Given the description of an element on the screen output the (x, y) to click on. 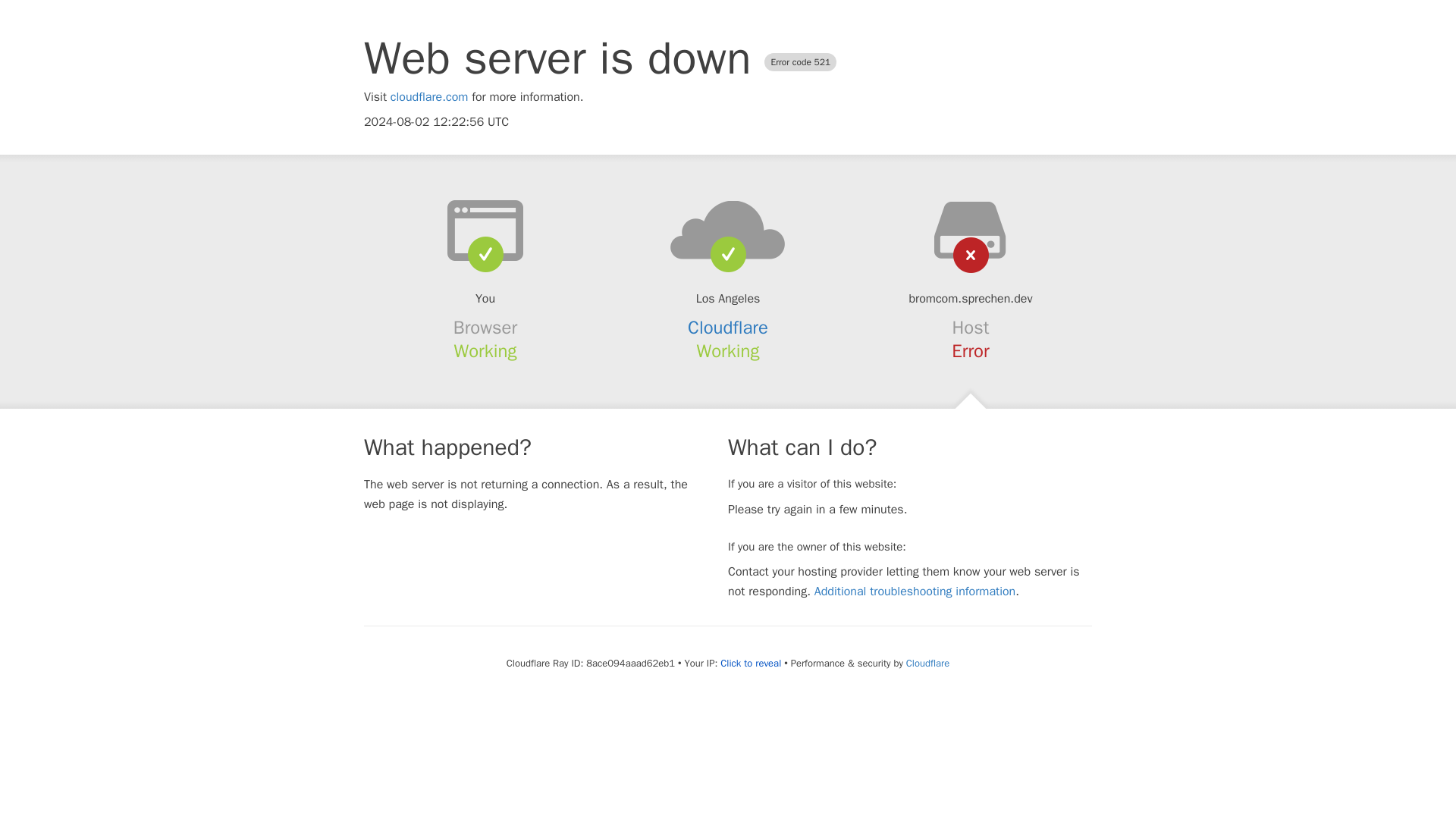
cloudflare.com (429, 96)
Cloudflare (927, 662)
Additional troubleshooting information (913, 590)
Cloudflare (727, 327)
Click to reveal (750, 663)
